Given the description of an element on the screen output the (x, y) to click on. 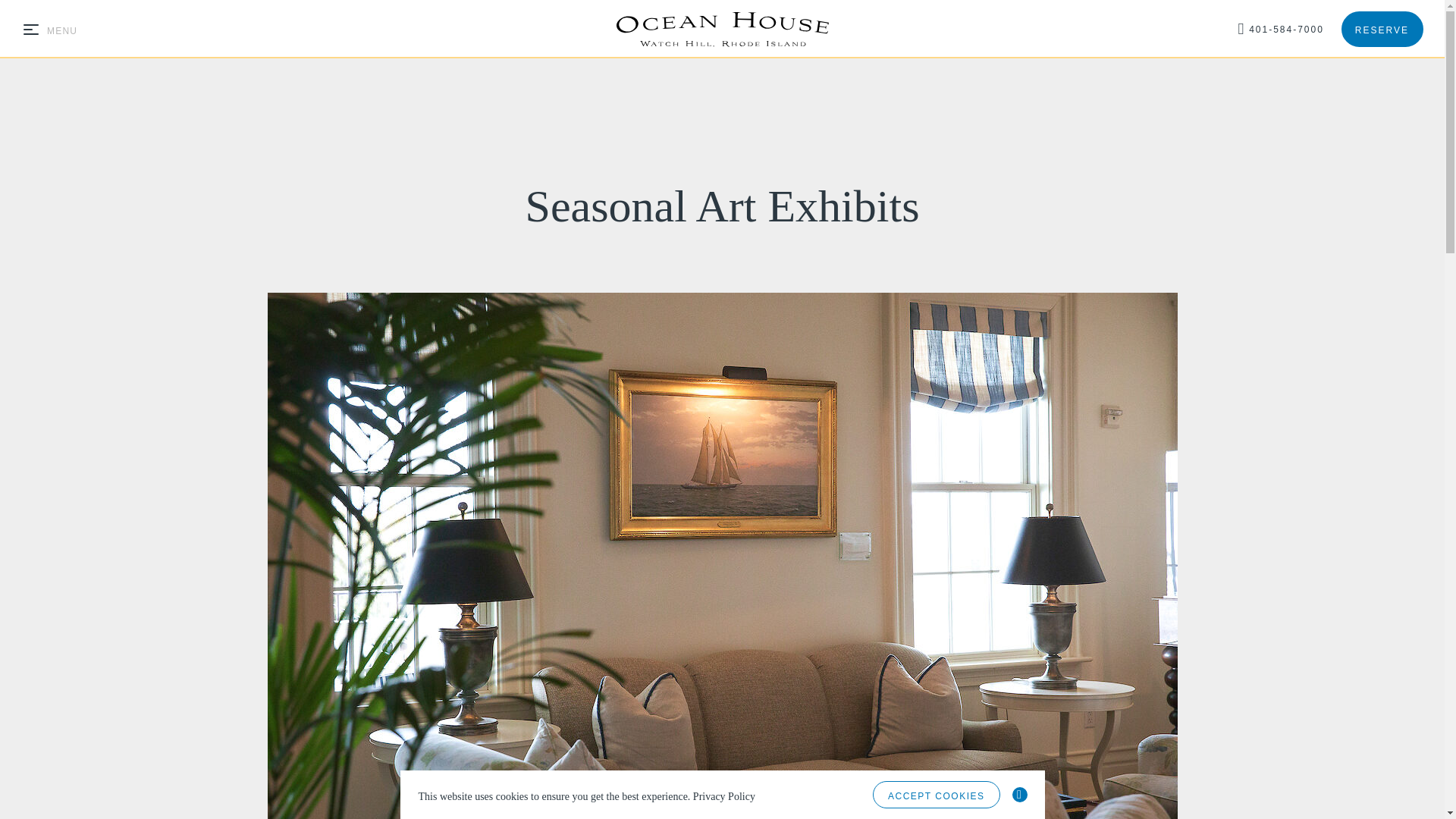
RESERVE (1381, 28)
401-584-7000 (1280, 28)
MENU (50, 30)
